Given the description of an element on the screen output the (x, y) to click on. 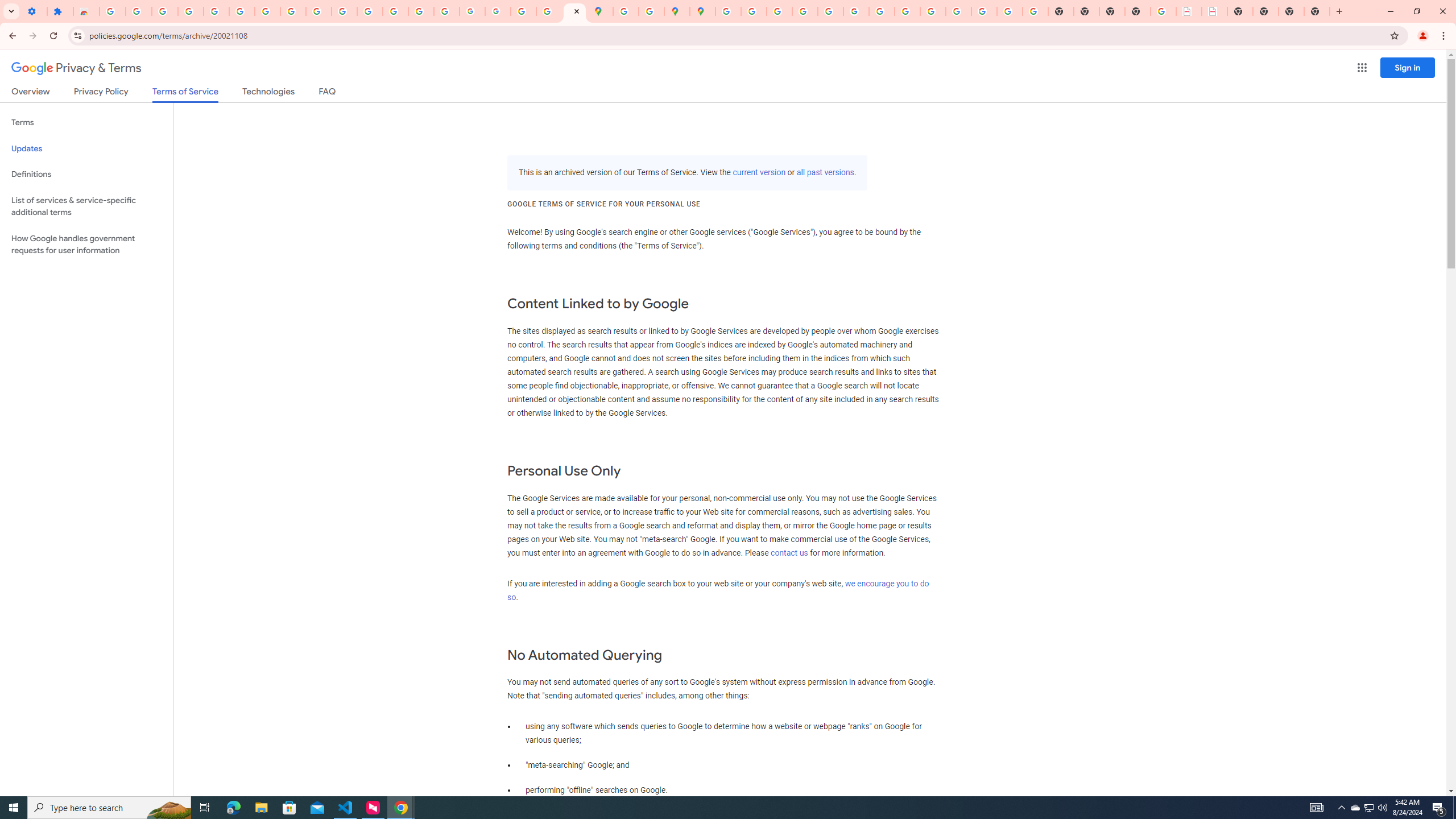
Google Images (1034, 11)
